Given the description of an element on the screen output the (x, y) to click on. 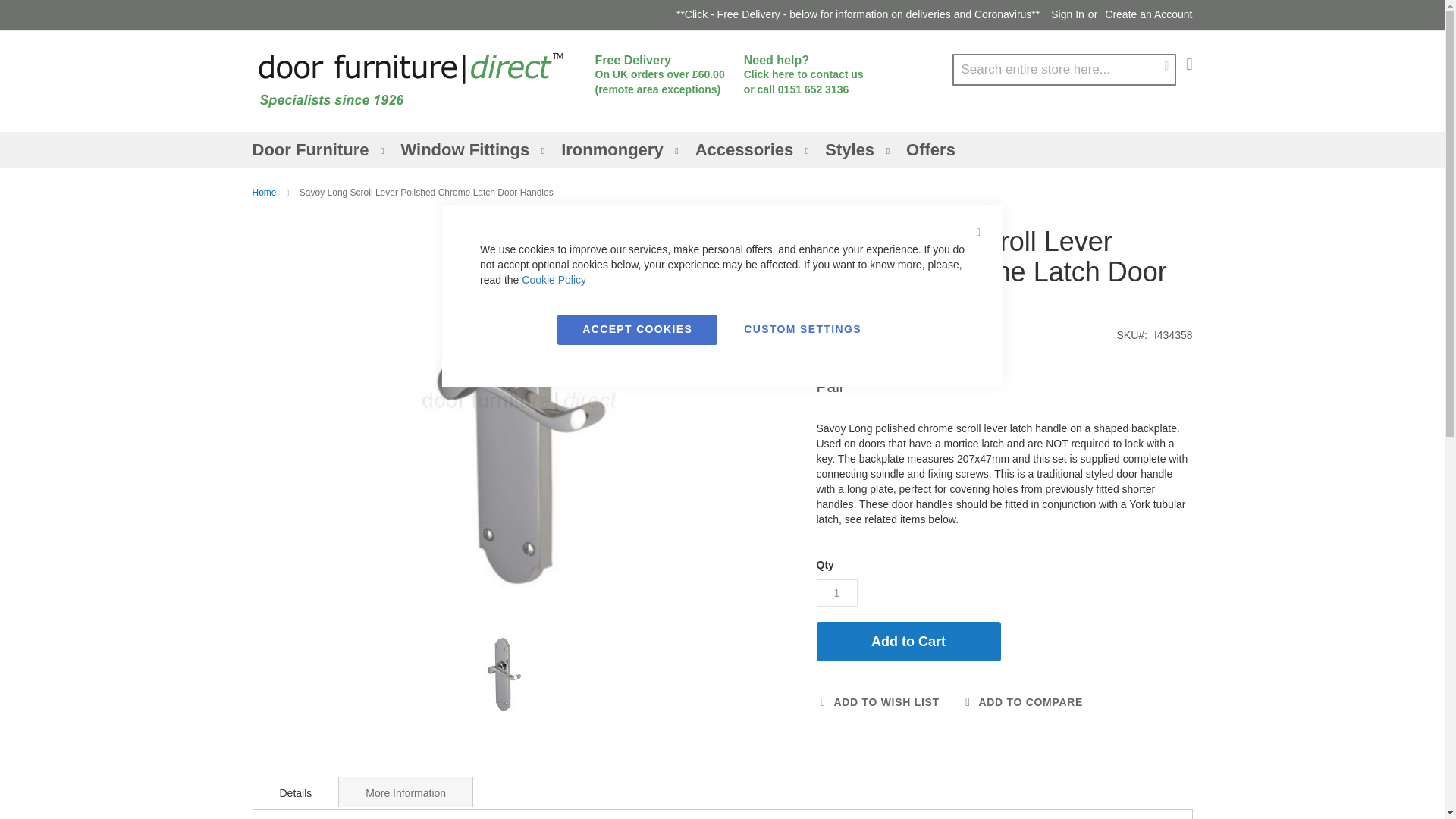
Door Furniture Direct (409, 80)
Qty (836, 592)
1 (836, 592)
Free Delivery (632, 60)
Search (1166, 65)
ACCEPT COOKIES (637, 329)
CUSTOM SETTINGS (801, 329)
Create an Account (1148, 14)
Add to Cart (907, 640)
Go to Home Page (263, 192)
Close (977, 232)
Cookie Policy (553, 279)
Search (1166, 65)
0151 652 3136 (812, 89)
Need help? (776, 60)
